Given the description of an element on the screen output the (x, y) to click on. 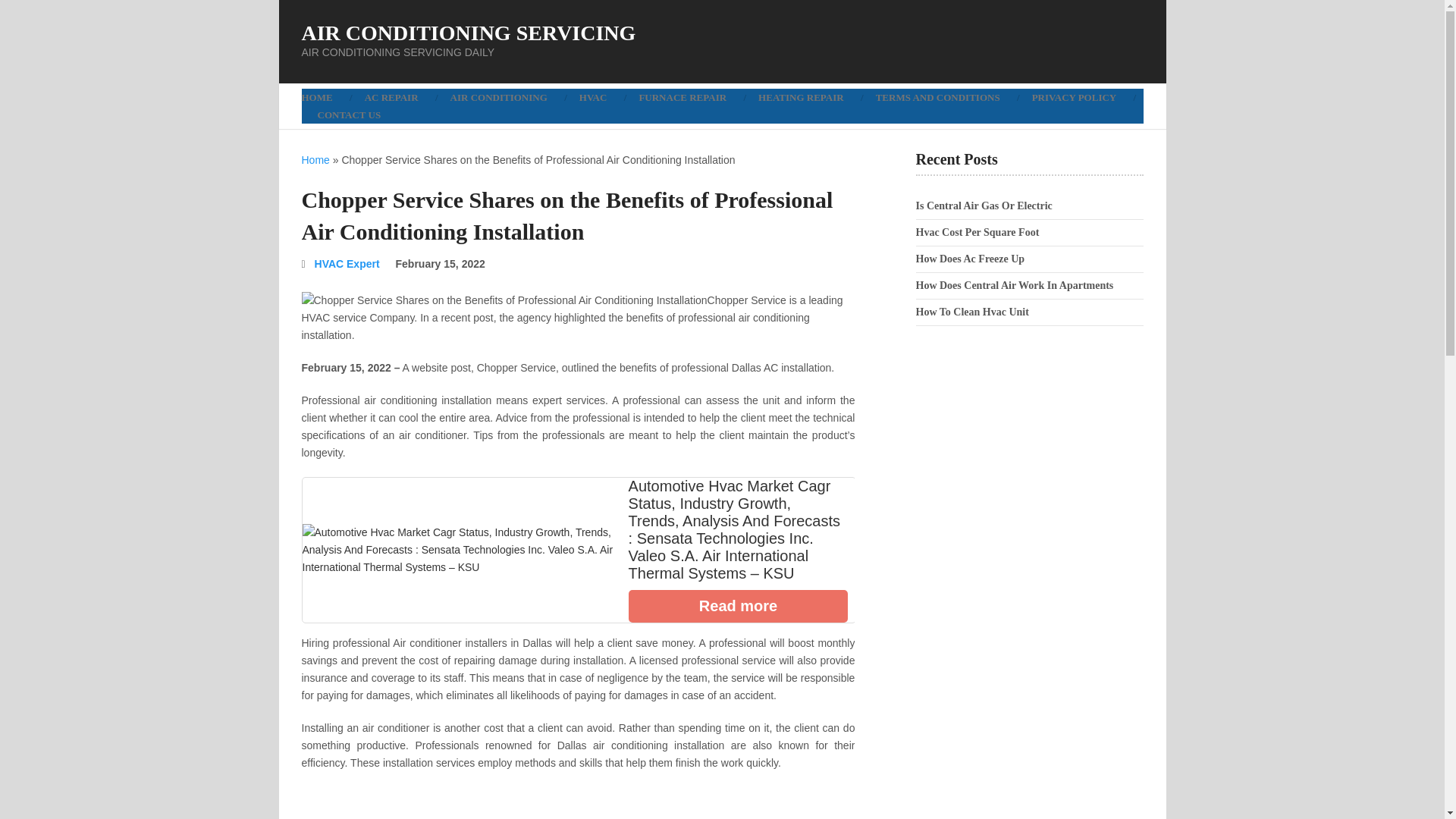
Hvac Cost Per Square Foot (977, 232)
Is Central Air Gas Or Electric (983, 205)
HEATING REPAIR (801, 97)
FURNACE REPAIR (682, 97)
HOME (325, 97)
CONTACT US (349, 114)
AC REPAIR (391, 97)
How To Clean Hvac Unit (972, 311)
Home (315, 159)
